Given the description of an element on the screen output the (x, y) to click on. 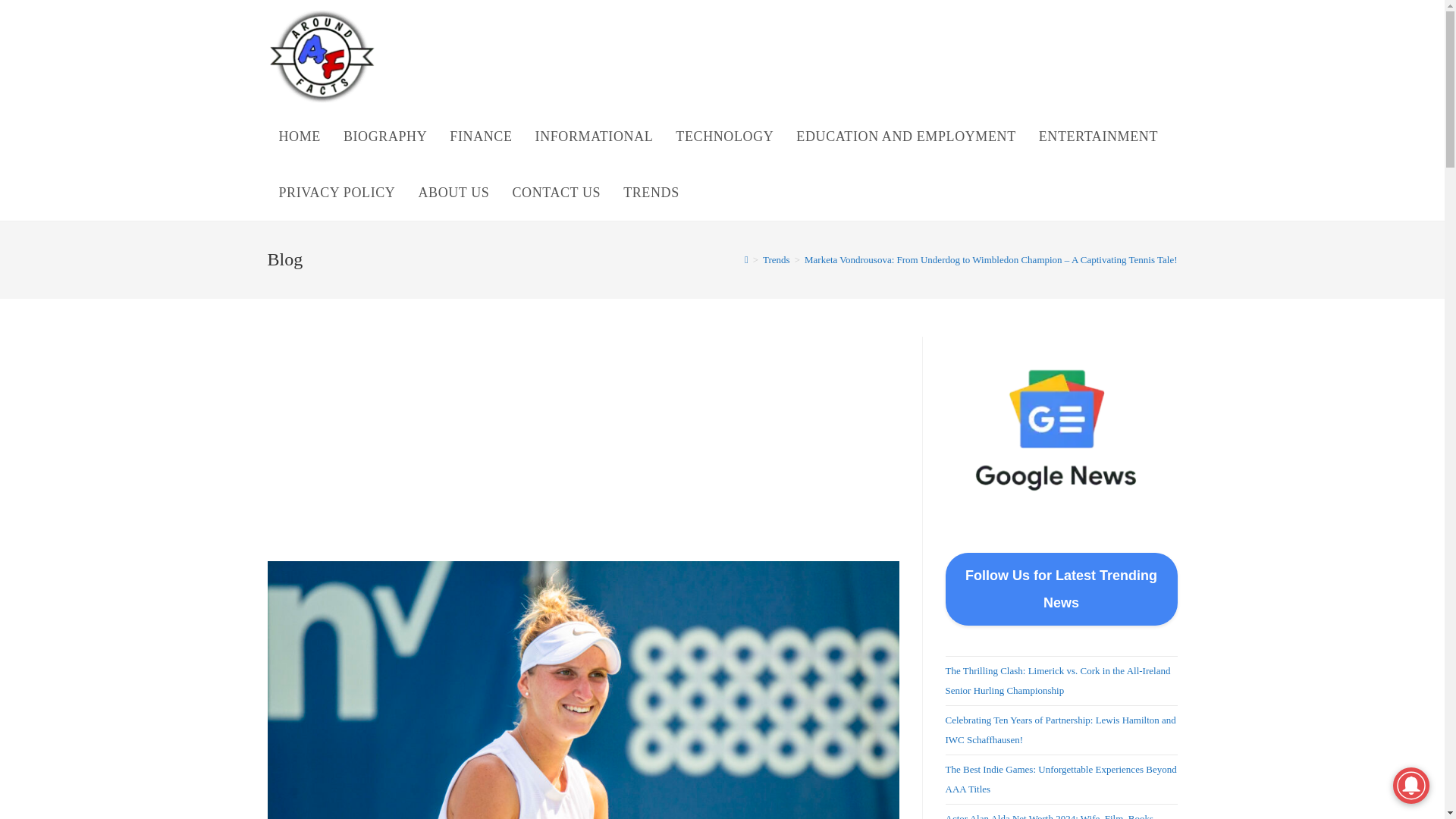
BIOGRAPHY (384, 136)
CONTACT US (555, 192)
Advertisement (582, 449)
Trends (776, 259)
PRIVACY POLICY (336, 192)
TRENDS (650, 192)
ABOUT US (453, 192)
FINANCE (480, 136)
INFORMATIONAL (594, 136)
ENTERTAINMENT (1098, 136)
